Given the description of an element on the screen output the (x, y) to click on. 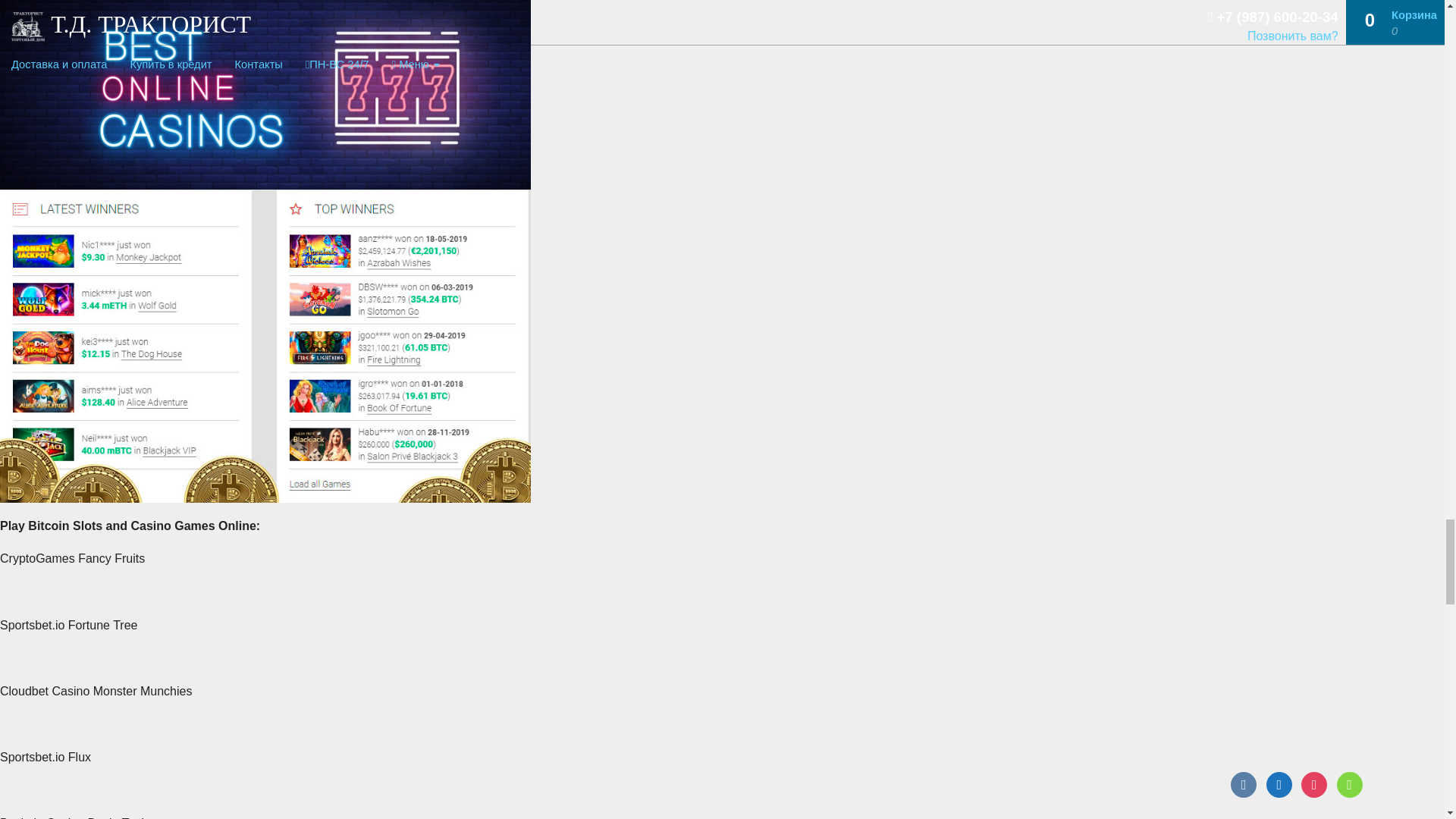
Seminole nation casino hours (265, 94)
